Given the description of an element on the screen output the (x, y) to click on. 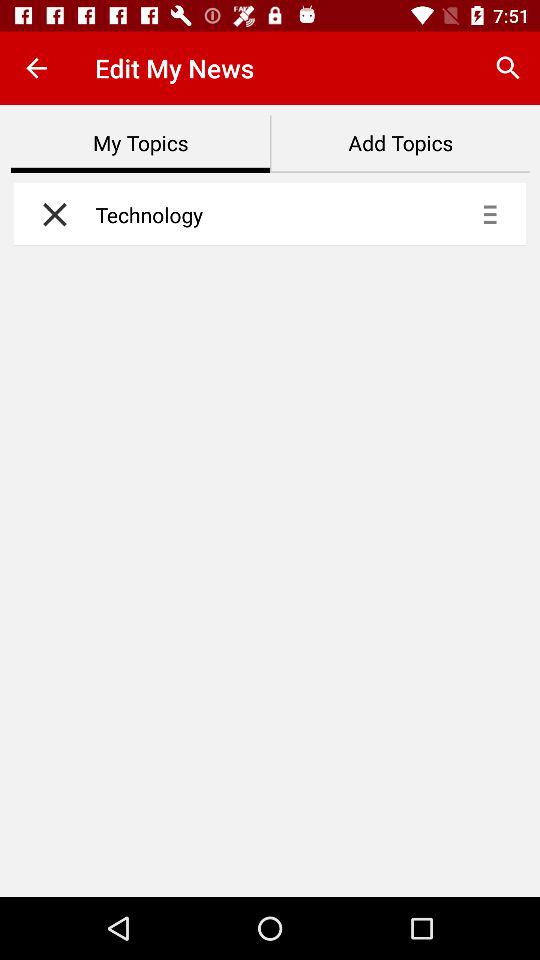
click the icon above add topics icon (508, 67)
